Given the description of an element on the screen output the (x, y) to click on. 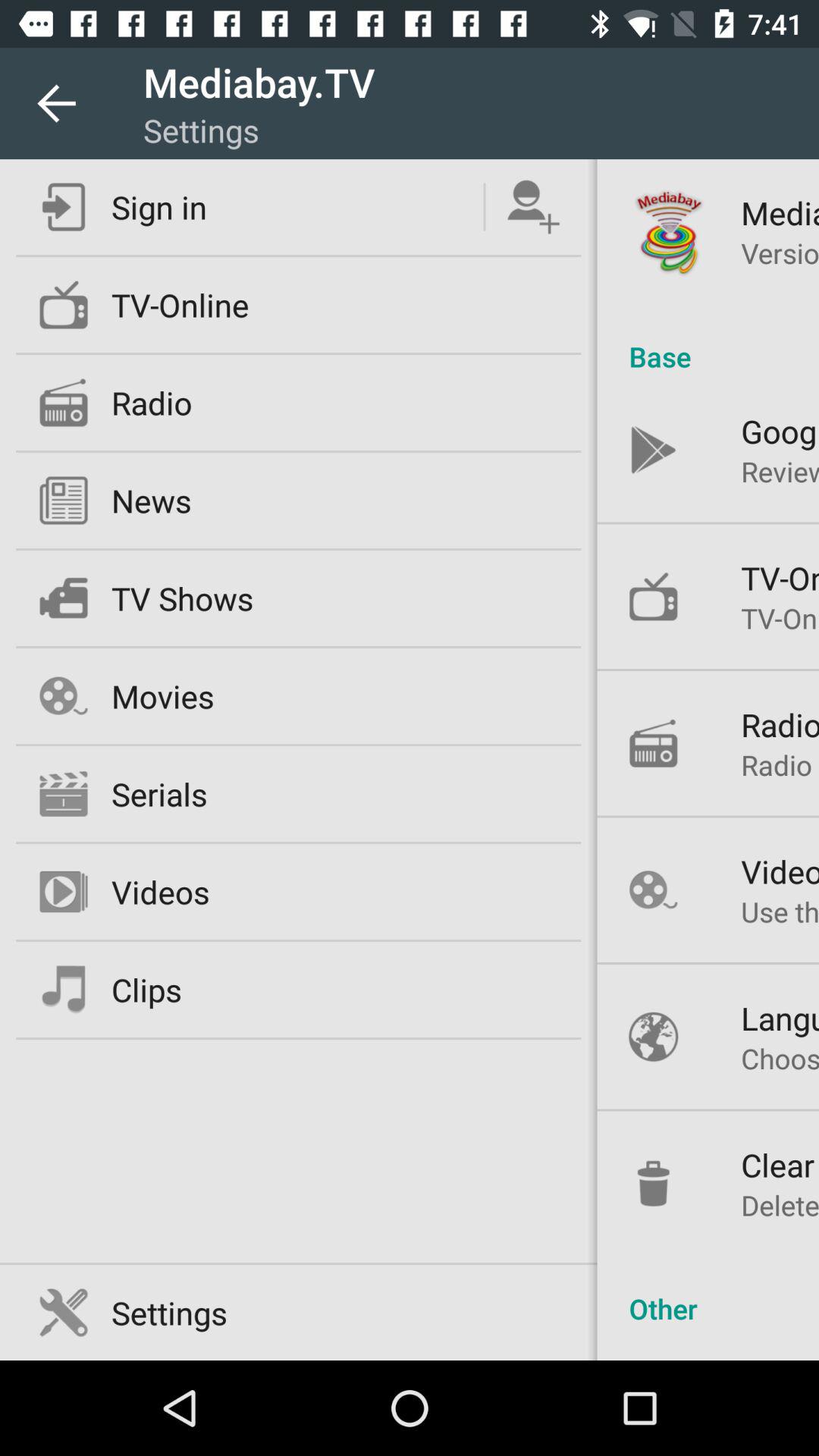
flip to review this app item (780, 471)
